Given the description of an element on the screen output the (x, y) to click on. 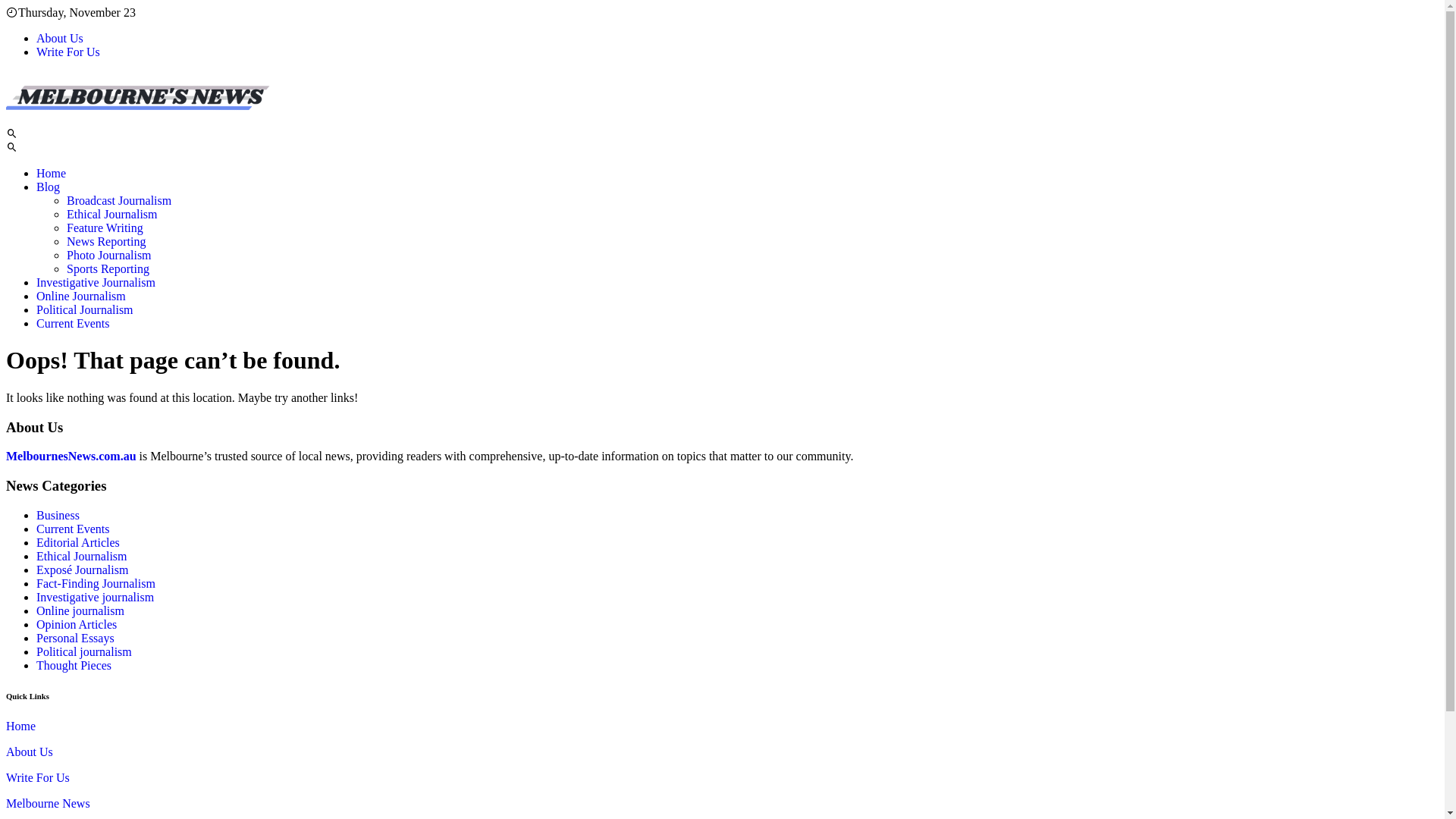
Thought Pieces Element type: text (73, 664)
Melbourne News Element type: text (48, 803)
Home Element type: text (50, 172)
Home Element type: text (20, 725)
Ethical Journalism Element type: text (111, 213)
Broadcast Journalism Element type: text (118, 200)
Current Events Element type: text (72, 322)
Opinion Articles Element type: text (76, 624)
Fact-Finding Journalism Element type: text (95, 583)
Write For Us Element type: text (68, 51)
Personal Essays Element type: text (75, 637)
Feature Writing Element type: text (104, 227)
Current Events Element type: text (72, 528)
Online journalism Element type: text (80, 610)
Business Element type: text (57, 514)
About Us Element type: text (29, 751)
MelbournesNews.com.au  Element type: text (72, 455)
Editorial Articles Element type: text (77, 542)
Investigative journalism Element type: text (94, 596)
Online Journalism Element type: text (80, 295)
Skip to content Element type: text (5, 5)
Political journalism Element type: text (83, 651)
Blog Element type: text (47, 186)
Sports Reporting Element type: text (107, 268)
About Us Element type: text (59, 37)
News Reporting Element type: text (105, 241)
Political Journalism Element type: text (84, 309)
Investigative Journalism Element type: text (95, 282)
Photo Journalism Element type: text (108, 254)
Ethical Journalism Element type: text (81, 555)
Write For Us Element type: text (37, 777)
